Given the description of an element on the screen output the (x, y) to click on. 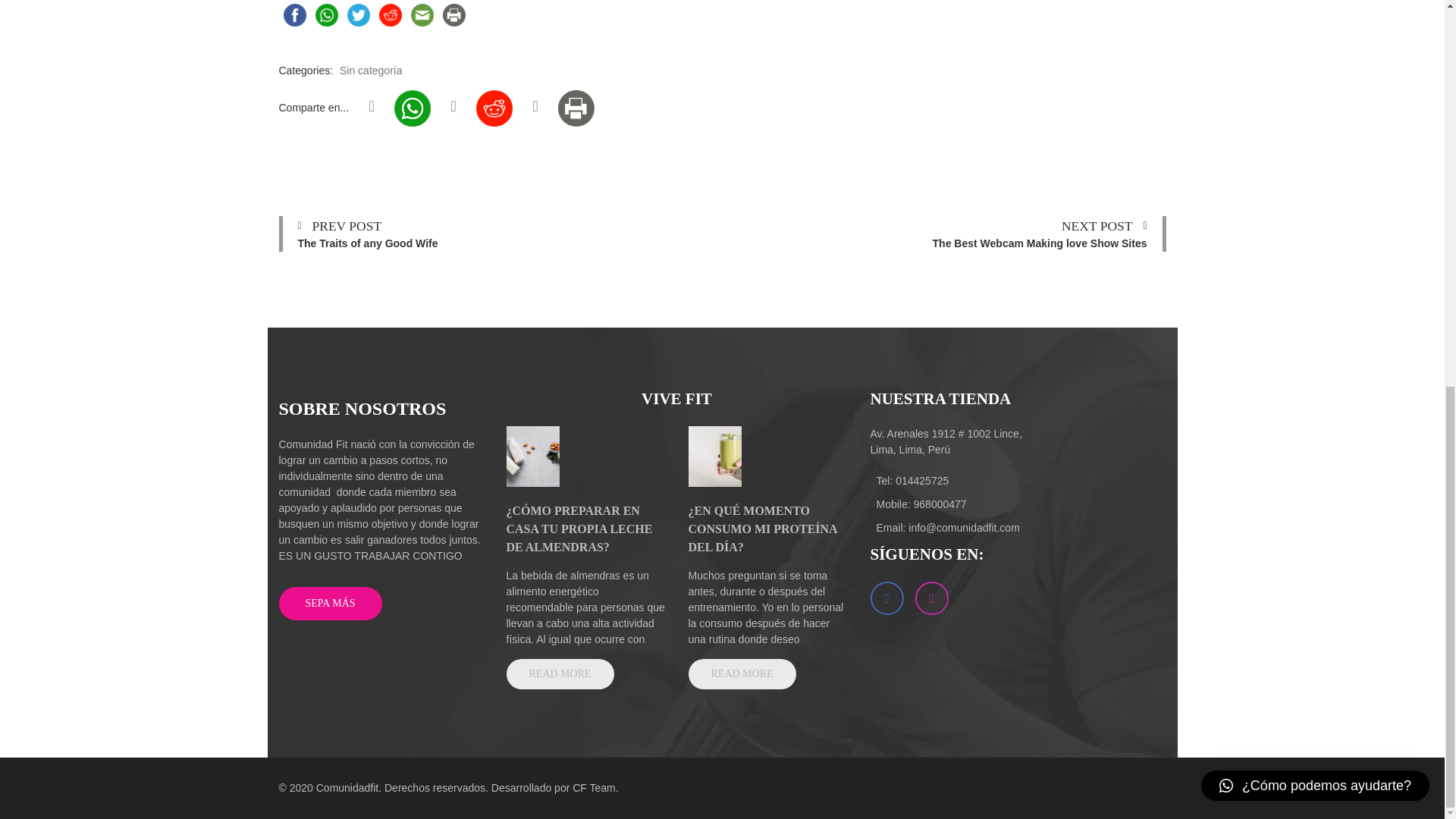
whatsapp (326, 15)
twitter (358, 15)
facebook (295, 15)
reddit (390, 15)
